Given the description of an element on the screen output the (x, y) to click on. 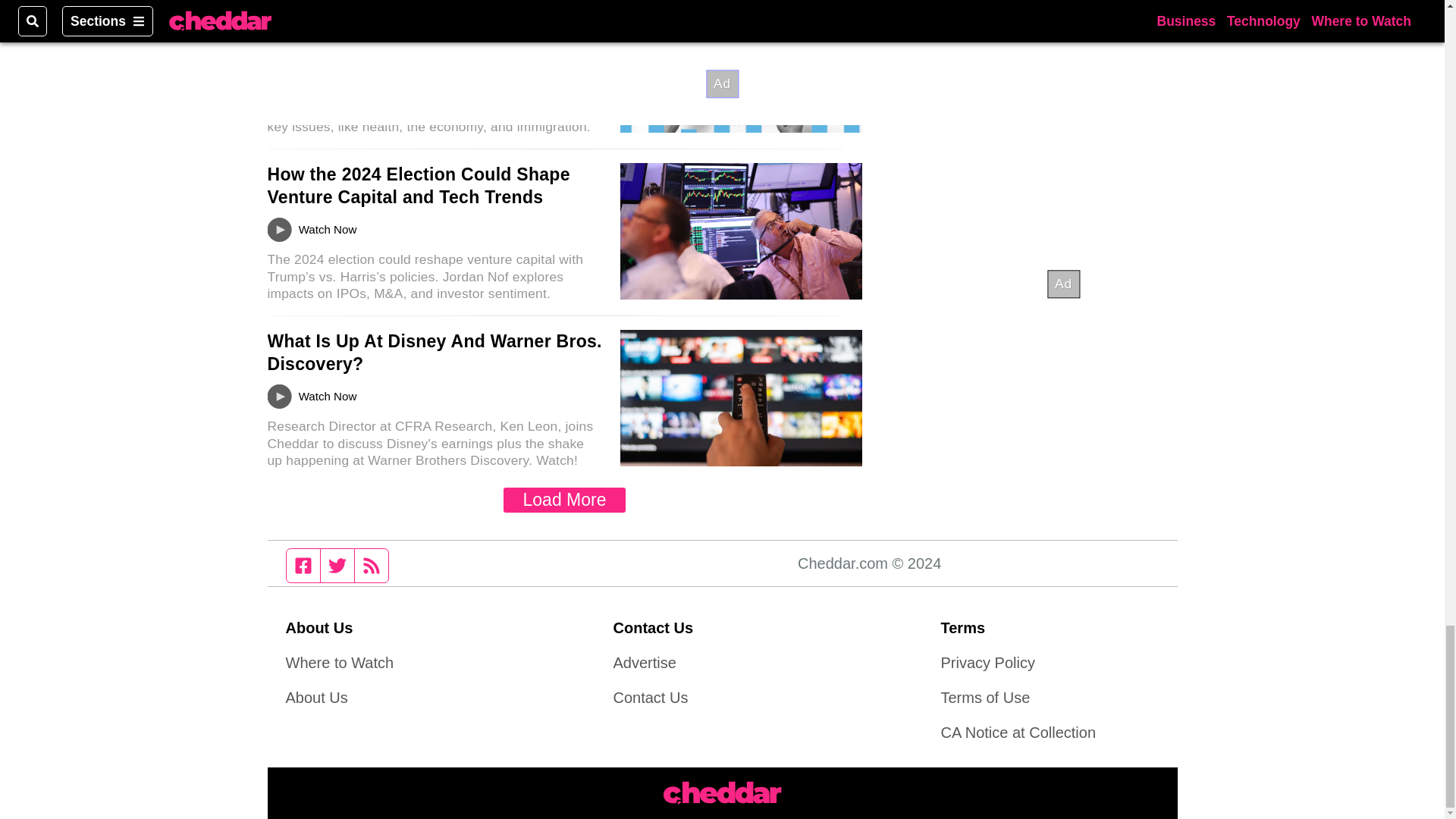
Load More (564, 499)
What Is Up At Disney And Warner Bros. Discovery? (433, 352)
RSS feed (371, 565)
Twitter feed (336, 565)
Facebook page (303, 565)
